Given the description of an element on the screen output the (x, y) to click on. 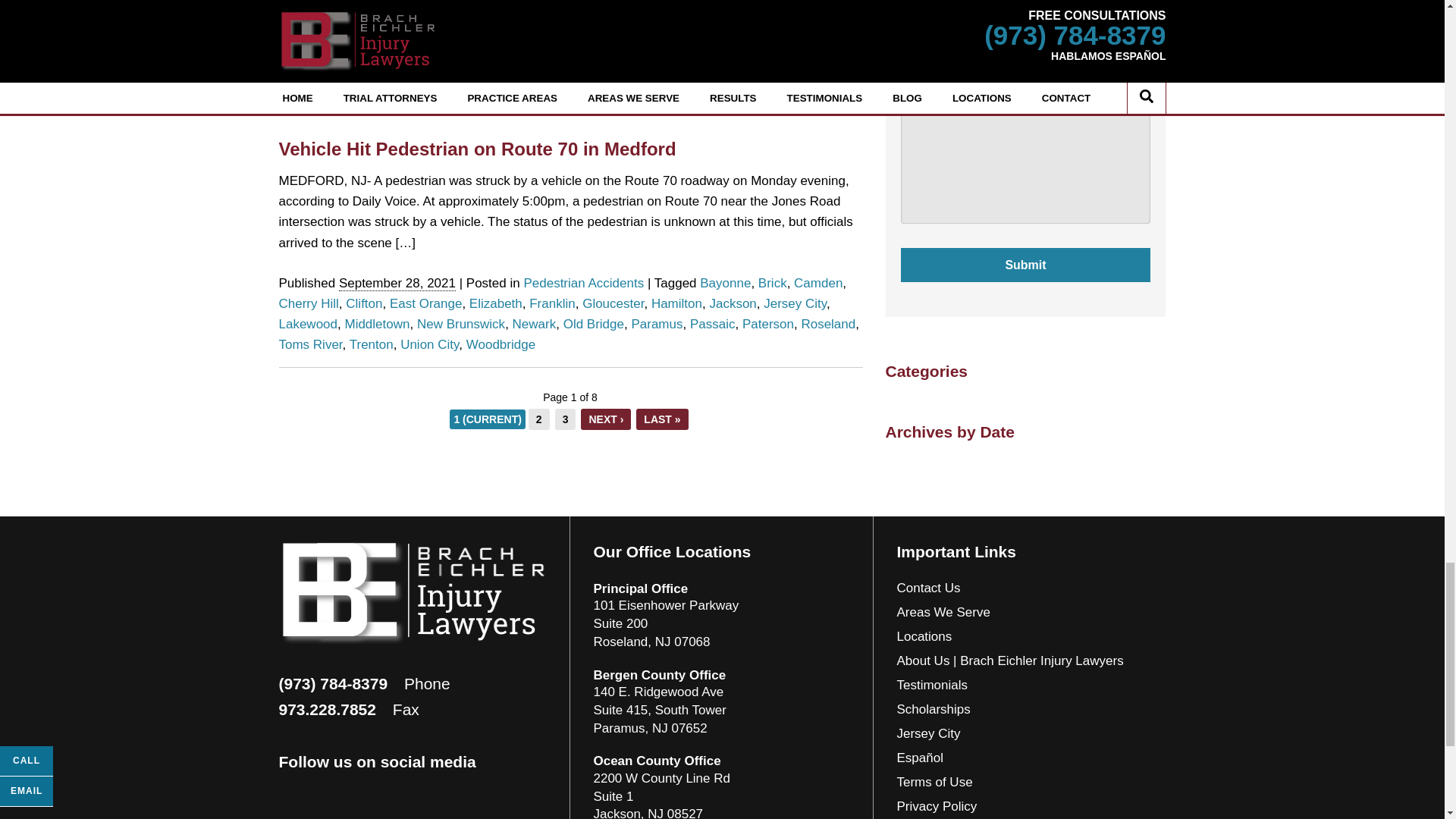
Permalink to Vehicle Hit Pedestrian on Route 70 in Medford (478, 148)
2021-09-28T21:26:06-0400 (397, 283)
2021-09-28T21:34:41-0400 (397, 25)
